Given the description of an element on the screen output the (x, y) to click on. 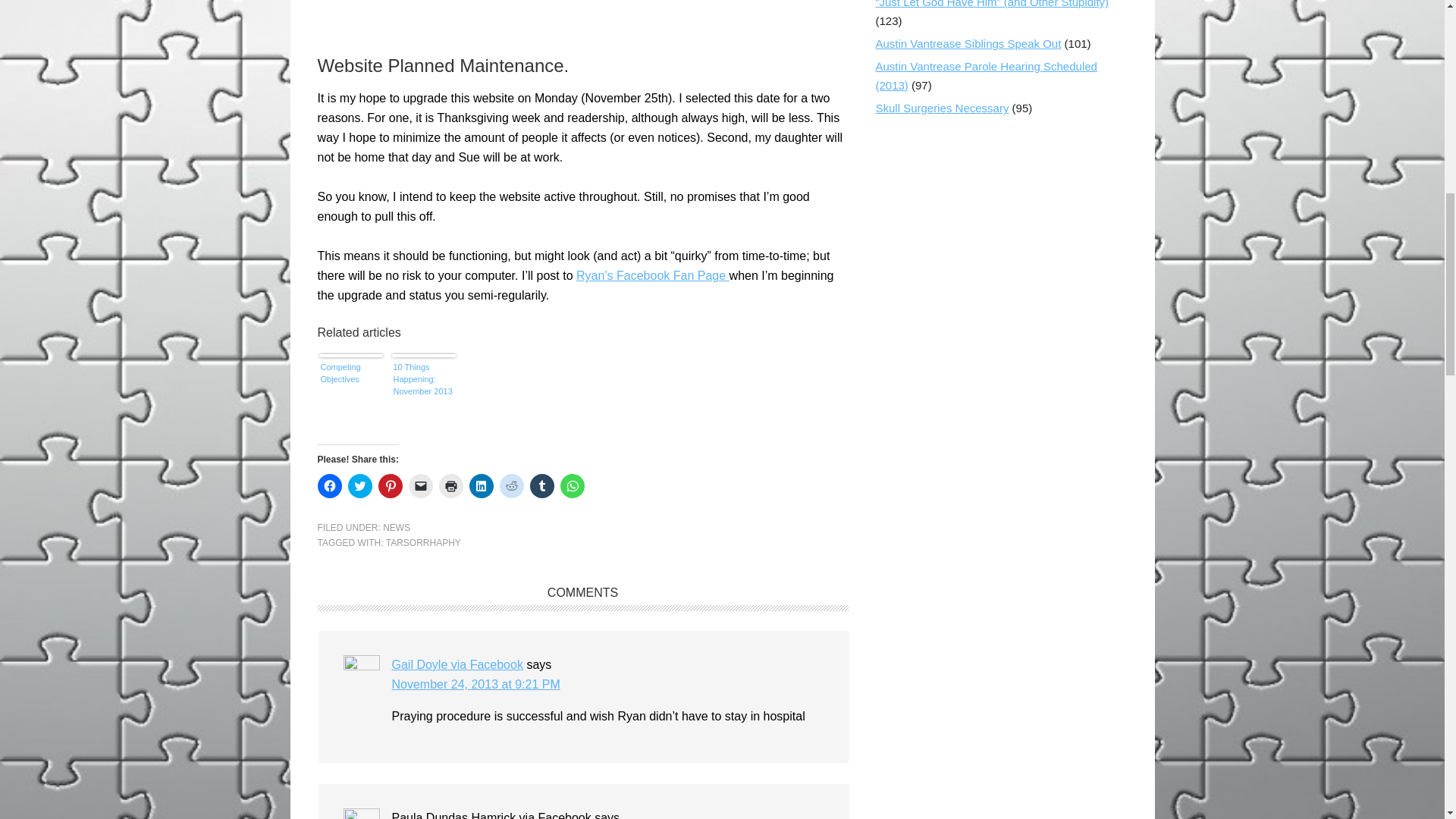
Click to email a link to a friend (419, 485)
Click to share on Reddit (510, 485)
Click to share on WhatsApp (571, 485)
Click to print (450, 485)
Click to share on Twitter (359, 485)
10 Things Happening: November 2013 (422, 387)
Click to share on LinkedIn (480, 485)
Click to share on Pinterest (389, 485)
Click to share on Tumblr (541, 485)
Click to share on Facebook (328, 485)
Competing Objectives (349, 387)
